Given the description of an element on the screen output the (x, y) to click on. 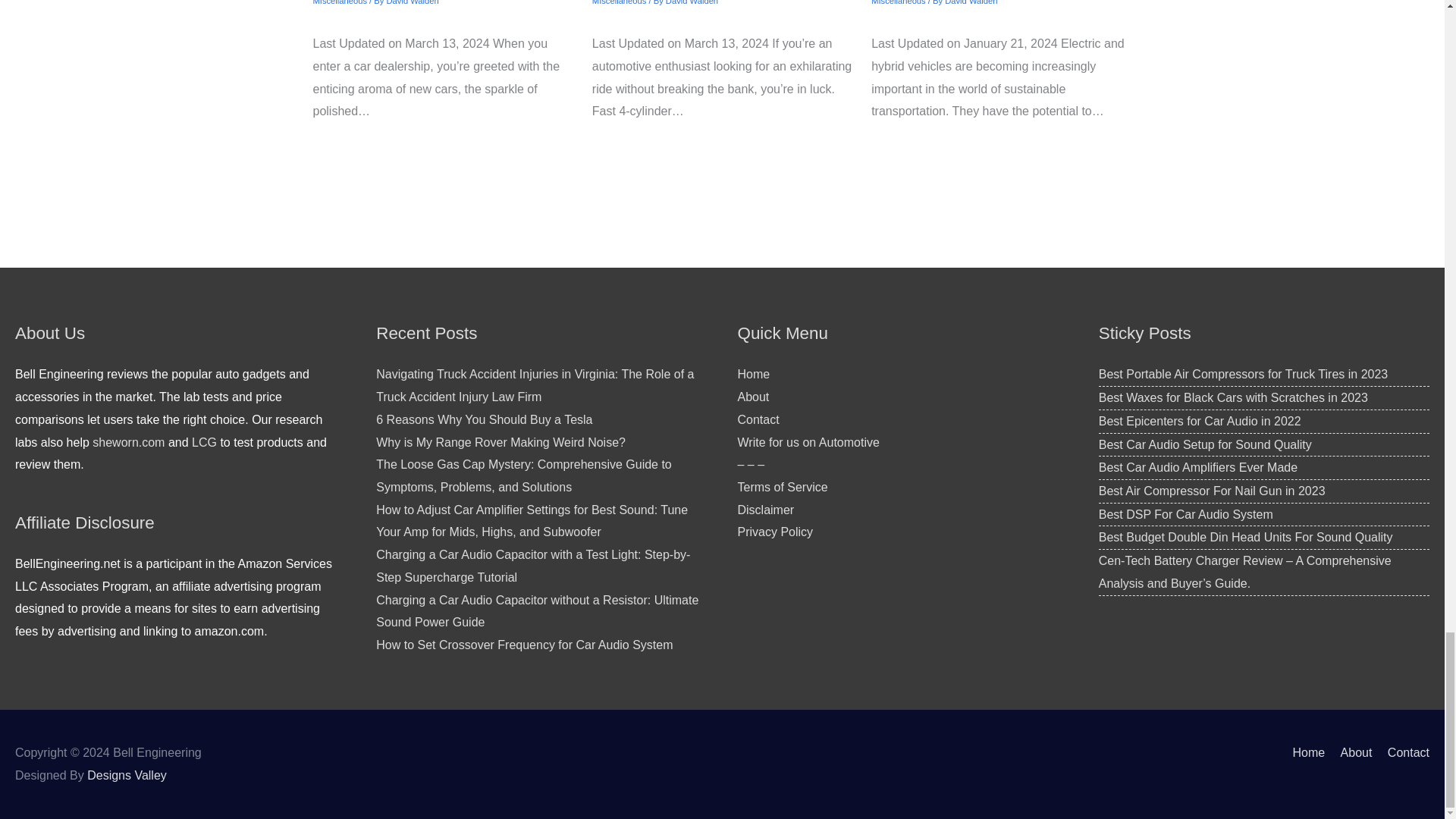
View all posts by David Walden (691, 2)
View all posts by David Walden (970, 2)
View all posts by David Walden (413, 2)
